Given the description of an element on the screen output the (x, y) to click on. 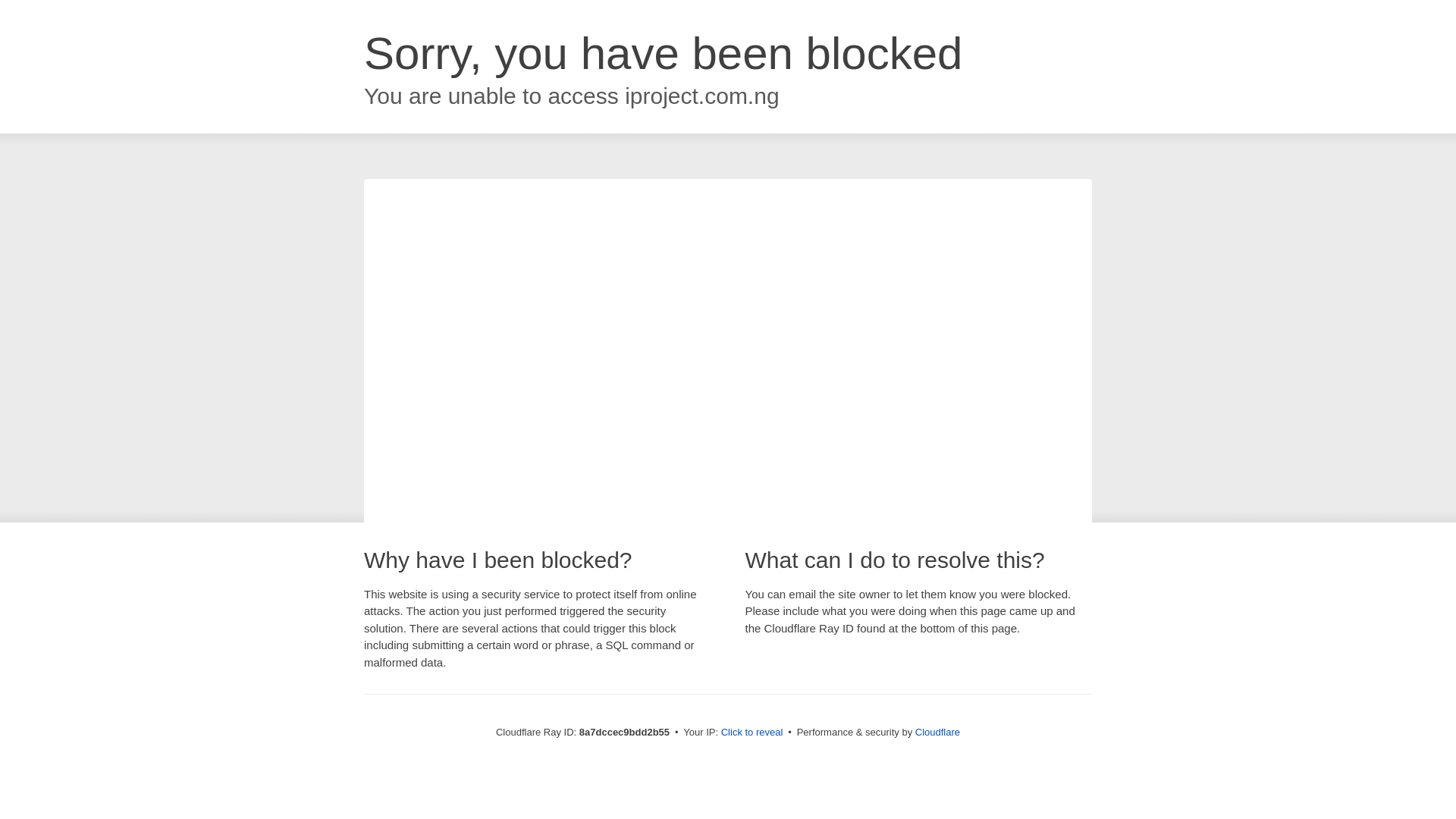
Click to reveal (751, 732)
Cloudflare (937, 731)
